Given the description of an element on the screen output the (x, y) to click on. 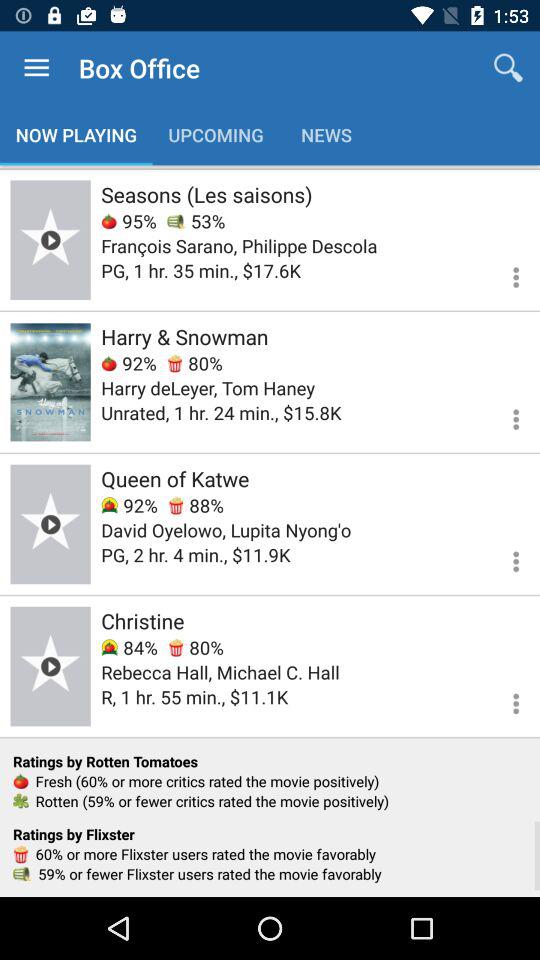
choose the icon below 92% item (226, 529)
